Given the description of an element on the screen output the (x, y) to click on. 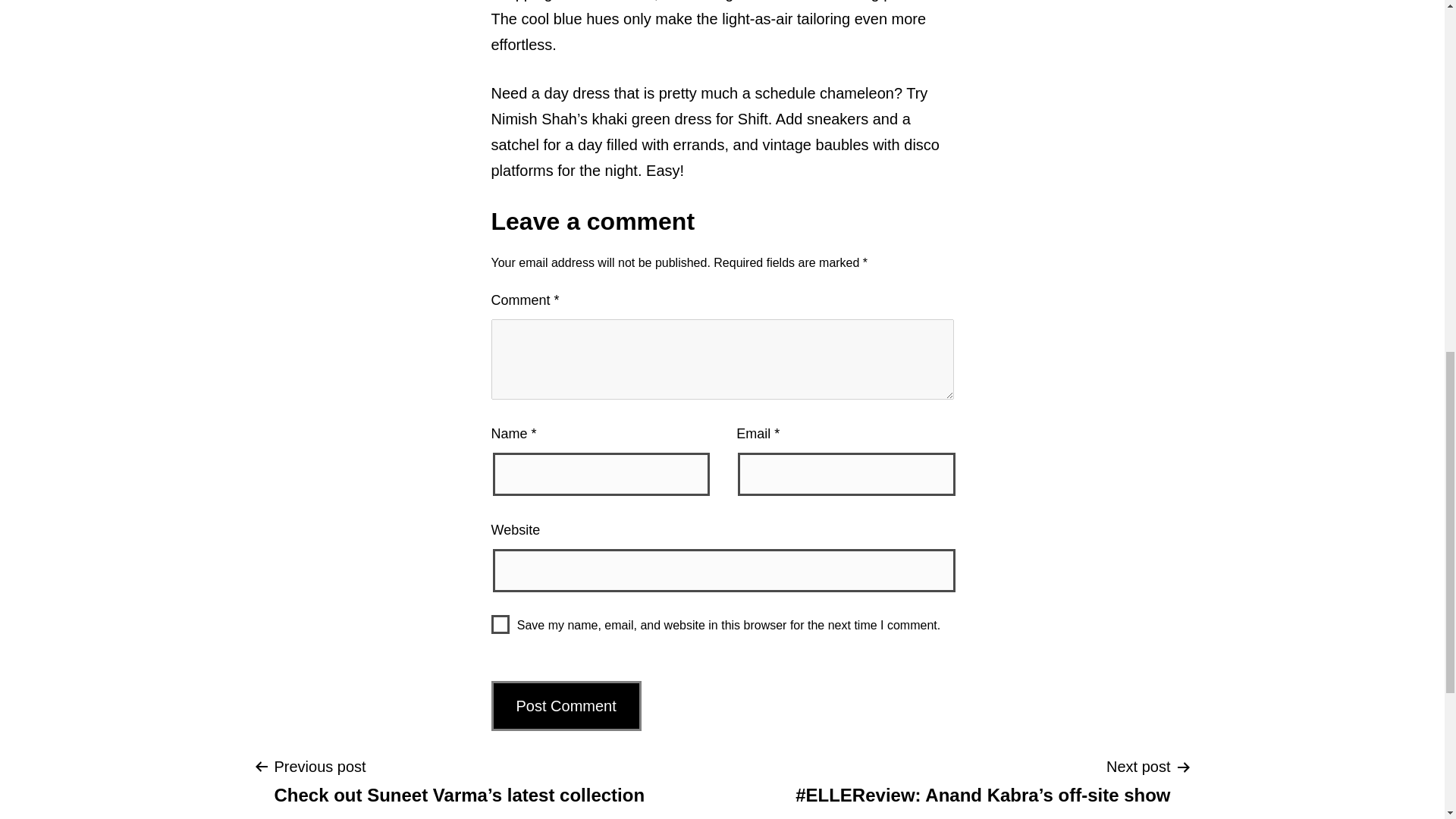
yes (500, 624)
Post Comment (567, 705)
